Given the description of an element on the screen output the (x, y) to click on. 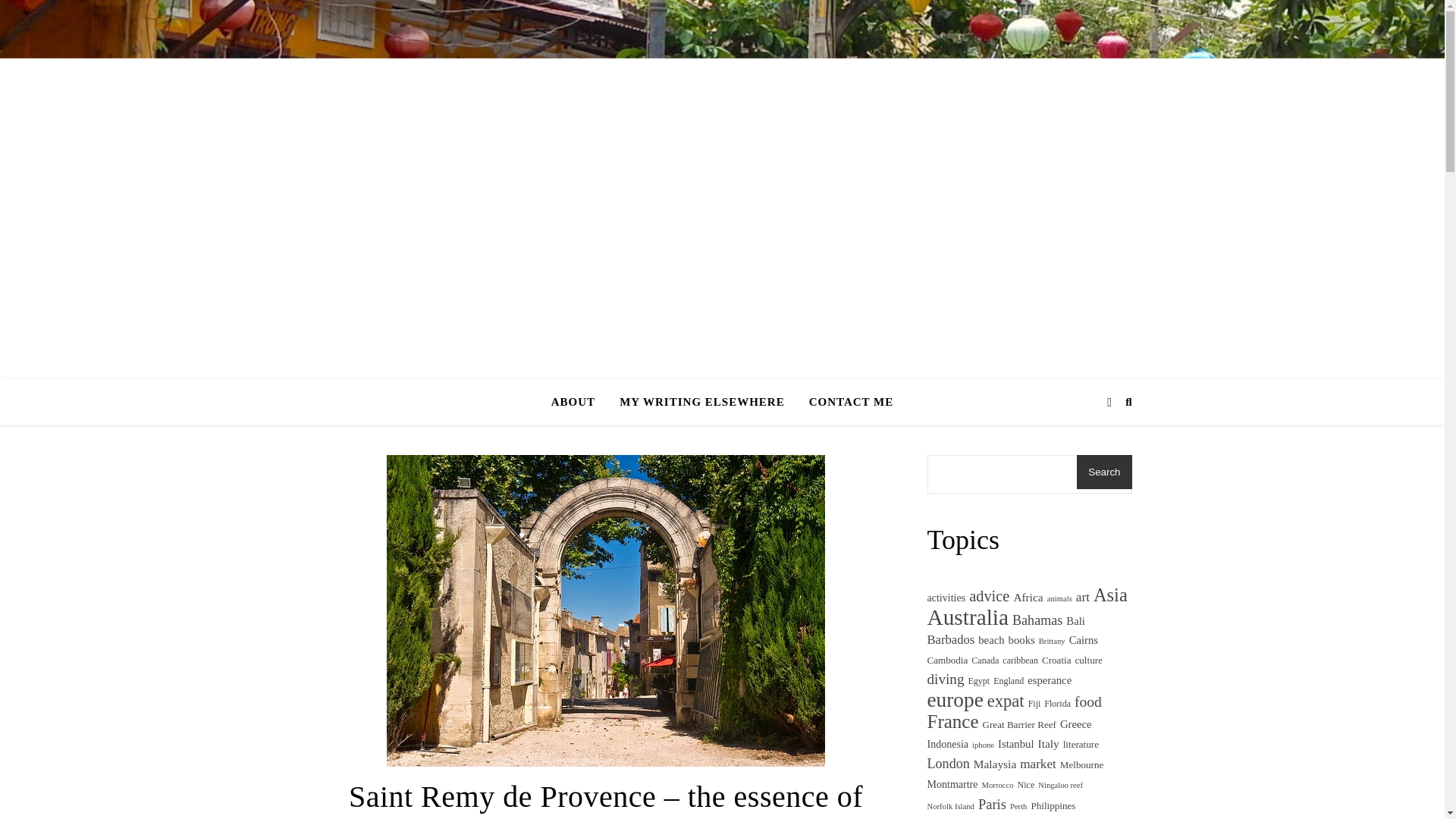
animals (1058, 599)
Asia (1109, 595)
Africa (1027, 597)
Bahamas (1036, 619)
advice (989, 596)
MY WRITING ELSEWHERE (701, 402)
activities (945, 597)
Australia (967, 617)
Search (1104, 471)
CONTACT ME (844, 402)
ABOUT (579, 402)
